Given the description of an element on the screen output the (x, y) to click on. 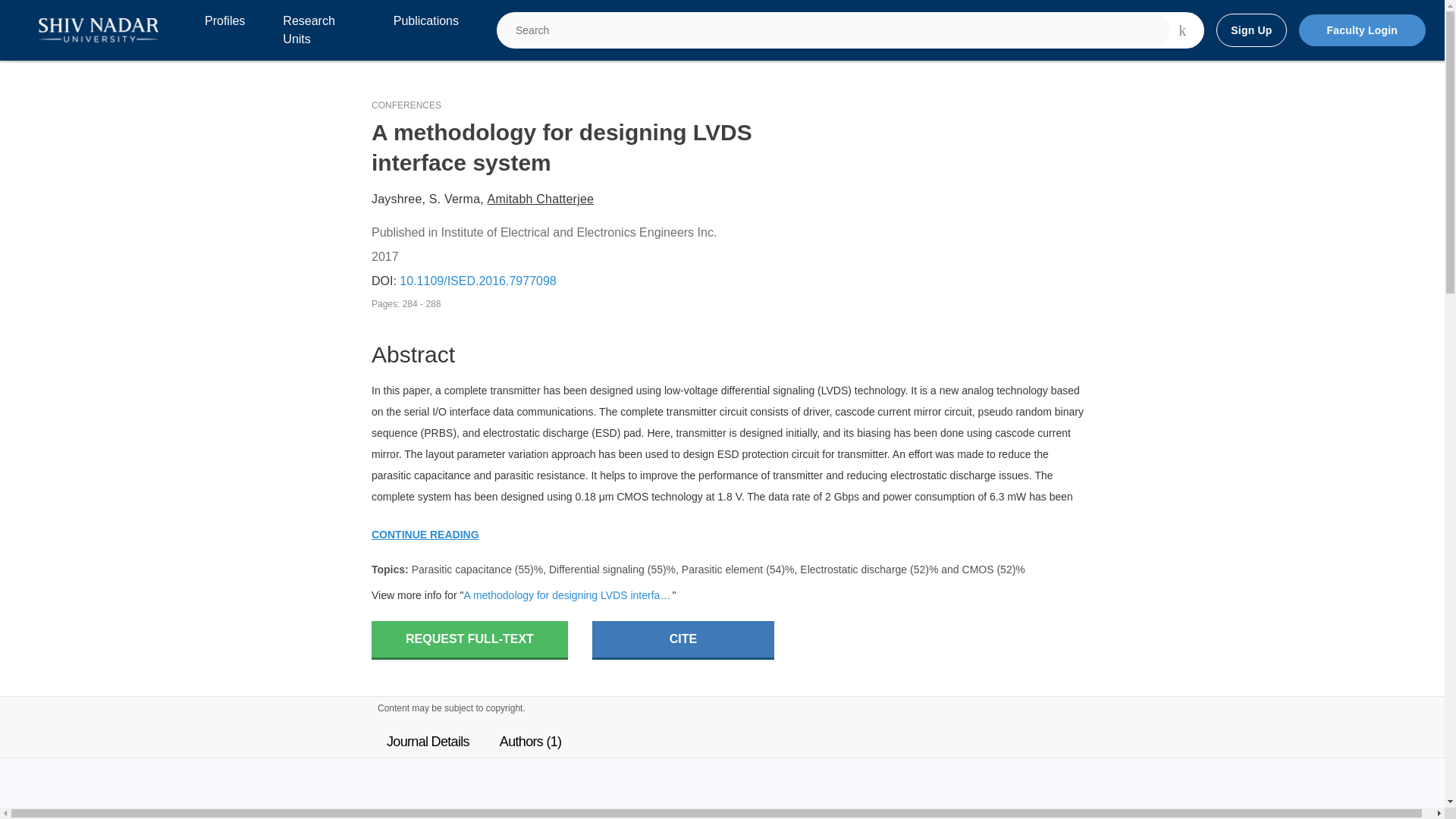
REQUEST FULL-TEXT (469, 640)
Sign Up (1250, 29)
Institution logo (98, 30)
Parasitic element (721, 569)
Electrostatic discharge (853, 569)
A methodology for designing LVDS interface system (567, 594)
Amitabh Chatterjee (540, 198)
Journal Details (427, 741)
Research Units (318, 30)
Parasitic capacitance (462, 569)
